Given the description of an element on the screen output the (x, y) to click on. 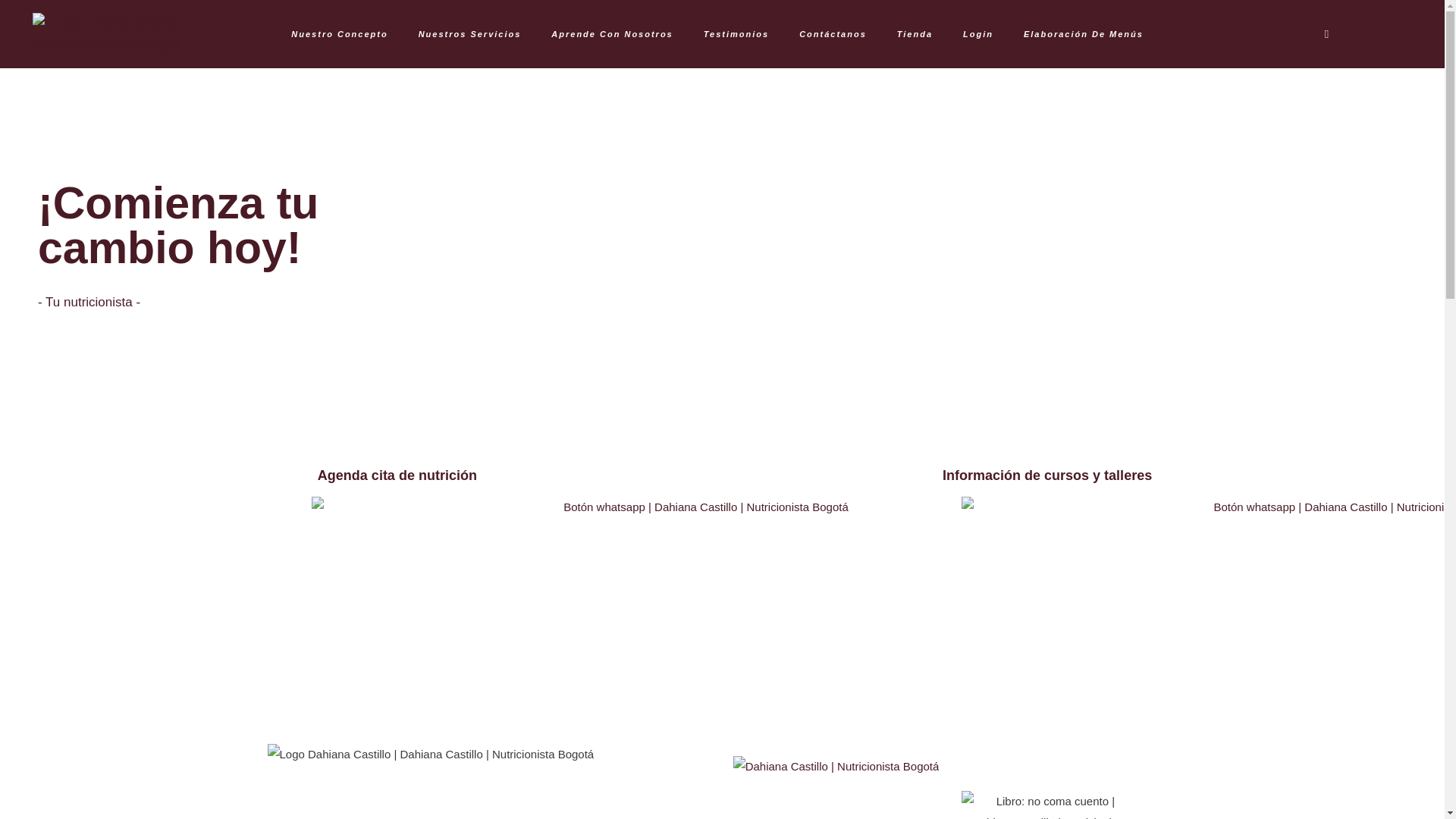
Nuestro Concepto (339, 33)
Tienda (914, 33)
Login (978, 33)
Aprende Con Nosotros (611, 33)
Nuestros Servicios (470, 33)
Testimonios (736, 33)
